Given the description of an element on the screen output the (x, y) to click on. 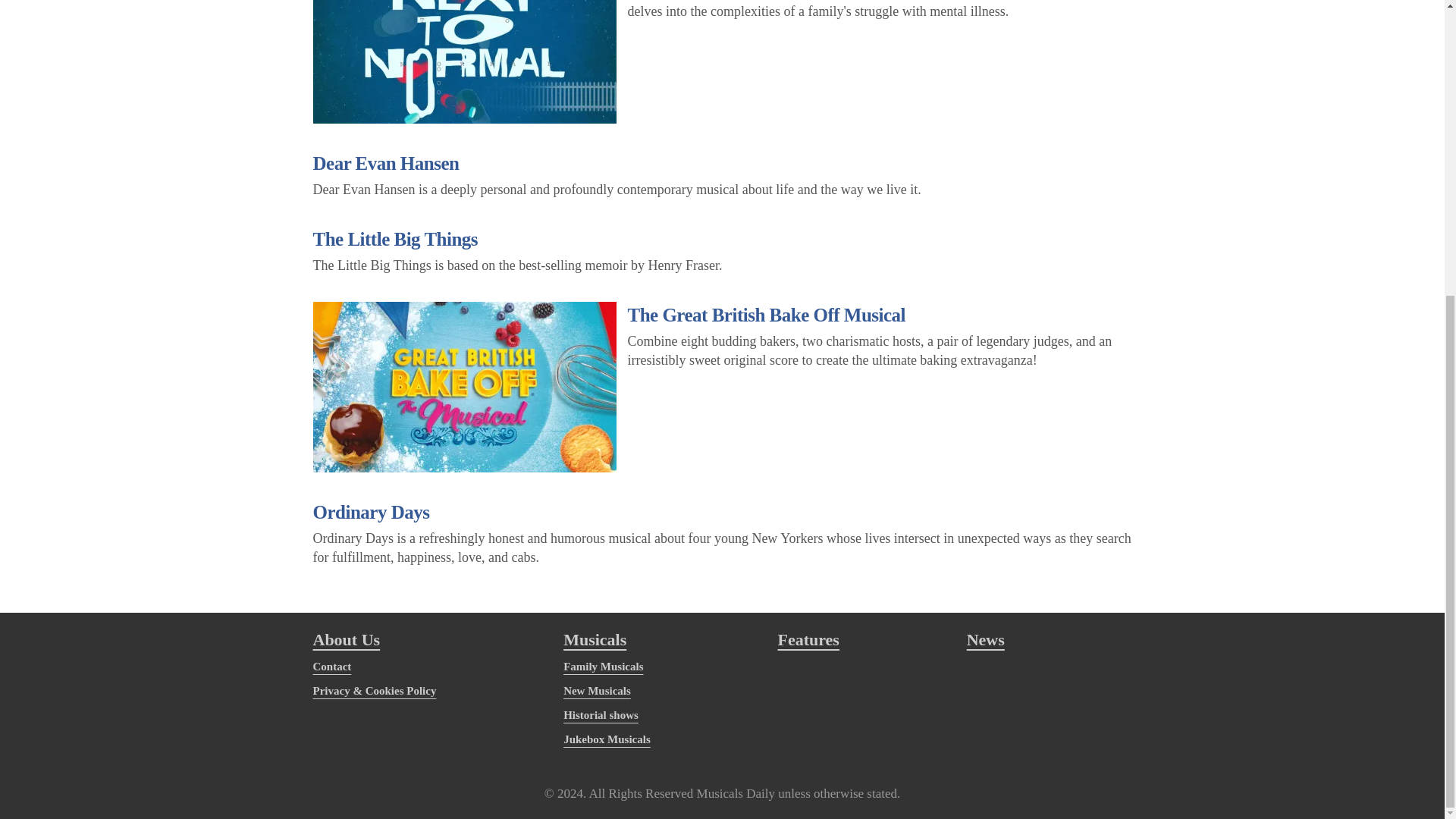
Historial shows (601, 715)
Family Musicals (603, 666)
News (985, 639)
Jukebox Musicals (606, 739)
About Us (346, 639)
The Great British Bake Off Musical (766, 314)
Features (807, 639)
Contact (331, 666)
Dear Evan Hansen (385, 163)
The Little Big Things (395, 239)
